Given the description of an element on the screen output the (x, y) to click on. 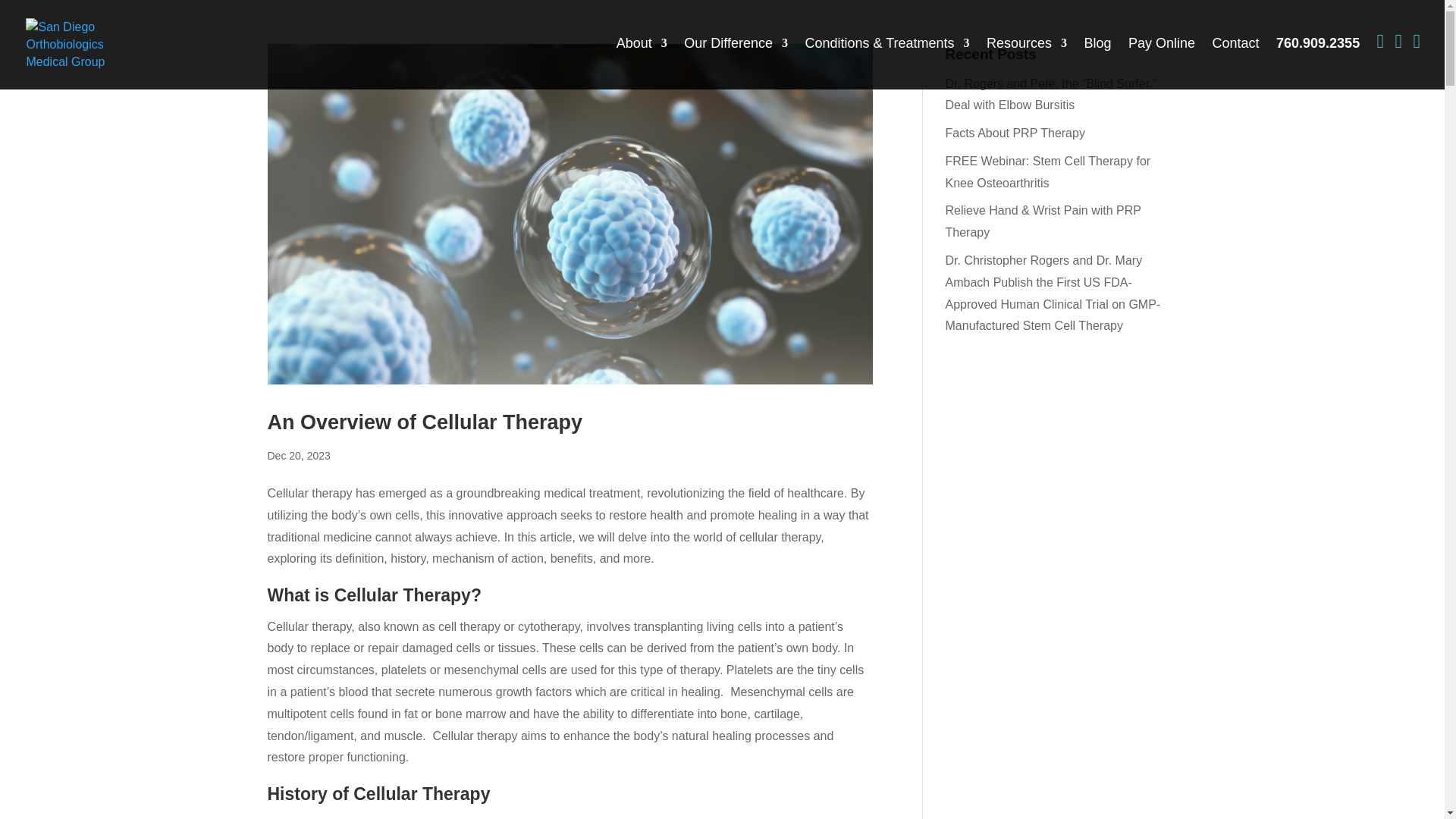
About (640, 61)
Resources (1027, 61)
Our Difference (735, 61)
